Given the description of an element on the screen output the (x, y) to click on. 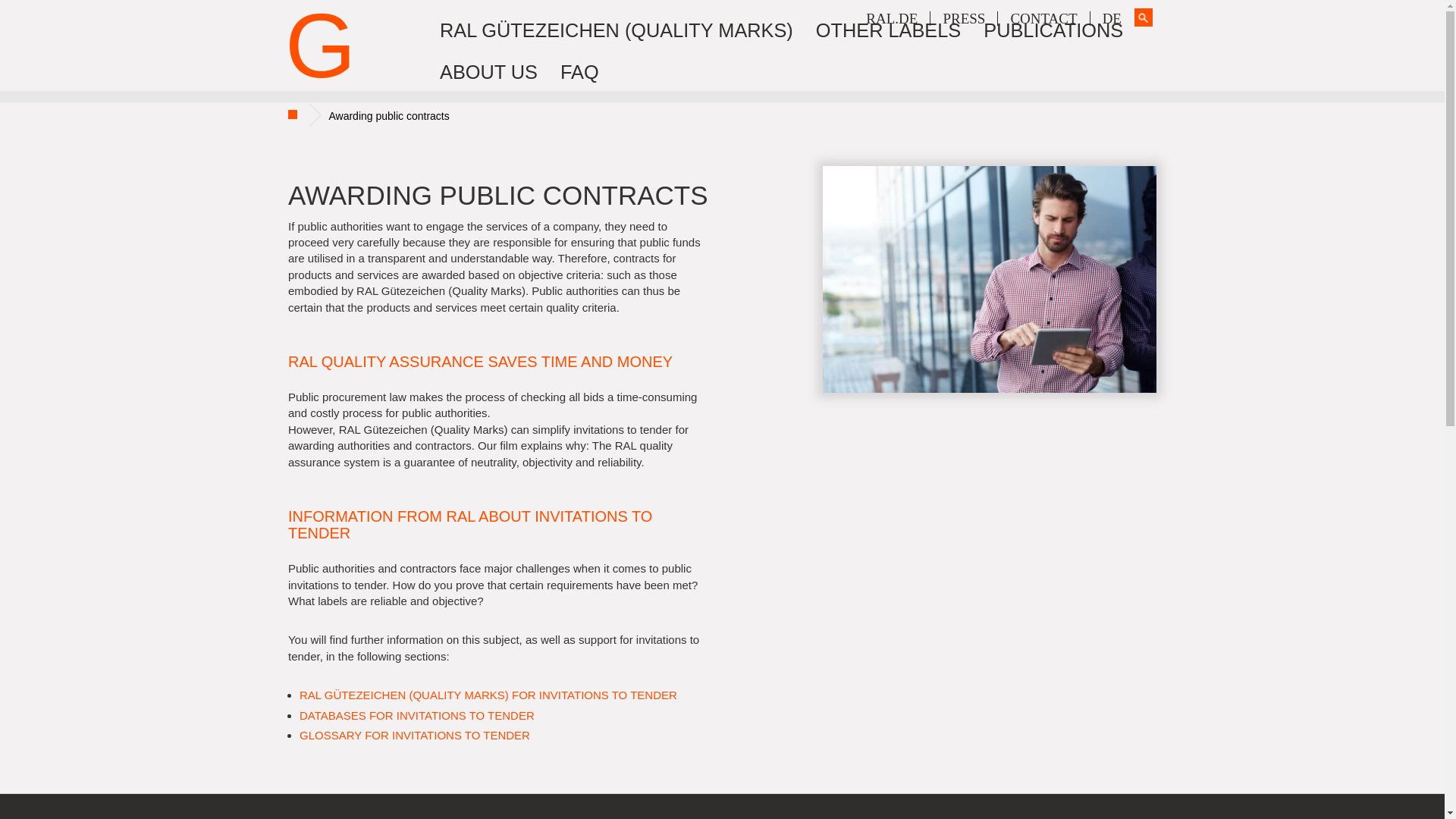
CONTACT (1043, 18)
Search for: (1143, 17)
G (320, 73)
DE (1112, 18)
